Given the description of an element on the screen output the (x, y) to click on. 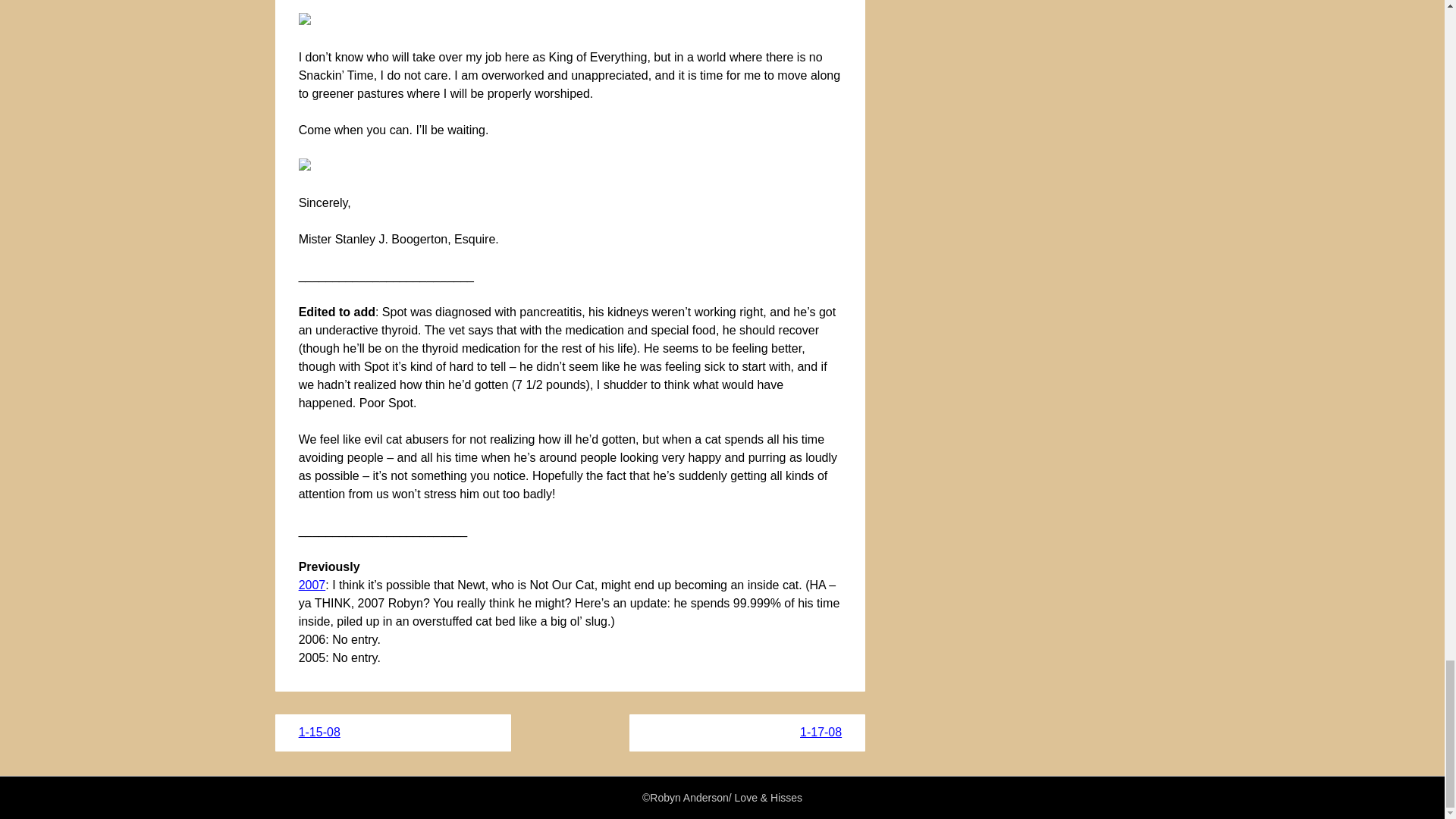
1-15-08 (319, 731)
1-17-08 (820, 731)
2007 (312, 584)
